Given the description of an element on the screen output the (x, y) to click on. 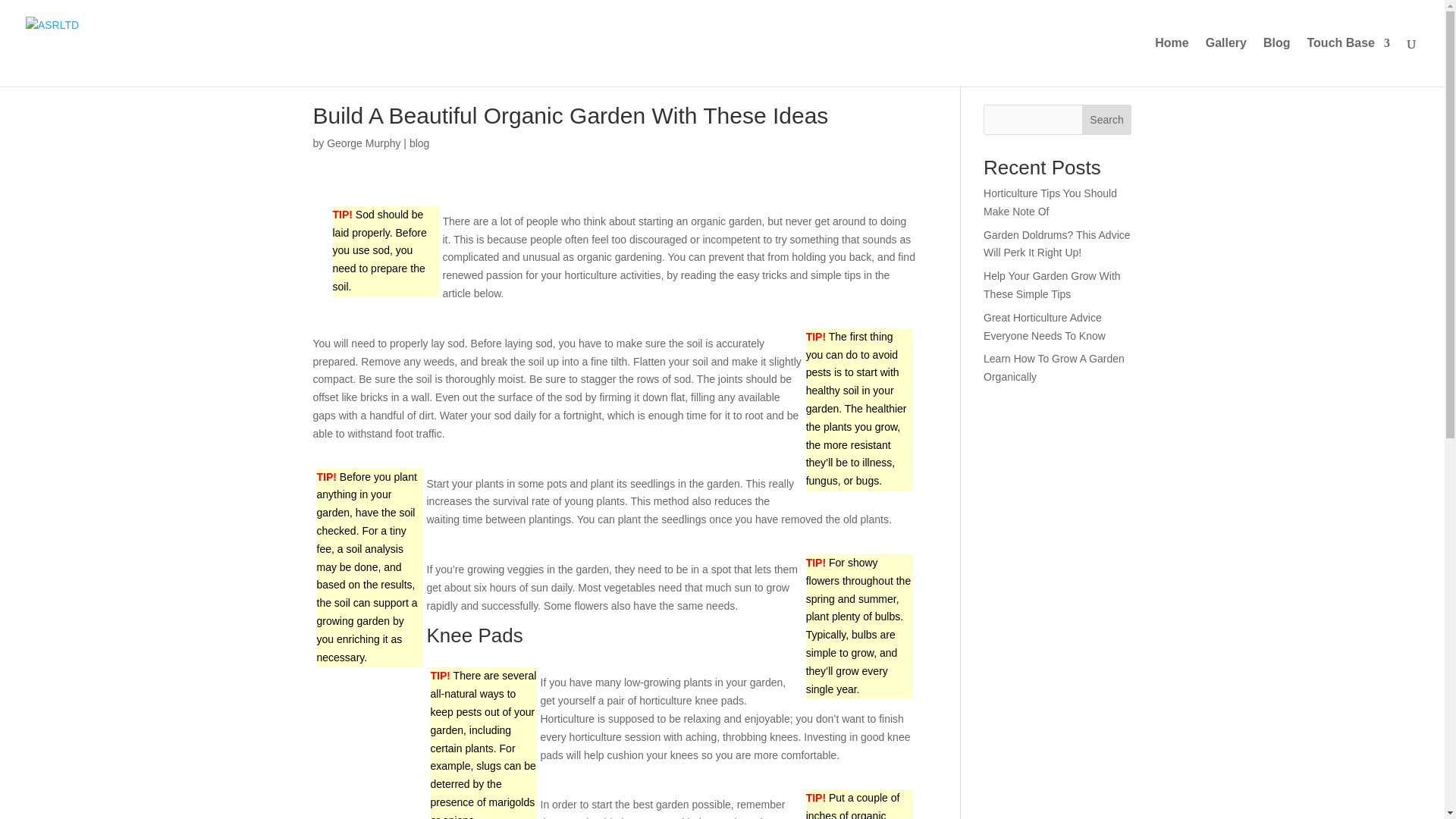
George Murphy (363, 143)
Posts by George Murphy (363, 143)
Search (1106, 119)
Horticulture Tips You Should Make Note Of (1050, 202)
Garden Doldrums? This Advice Will Perk It Right Up! (1057, 244)
Learn How To Grow A Garden Organically (1054, 367)
blog (419, 143)
Great Horticulture Advice Everyone Needs To Know (1044, 327)
Touch Base (1348, 61)
Help Your Garden Grow With These Simple Tips (1052, 285)
